Given the description of an element on the screen output the (x, y) to click on. 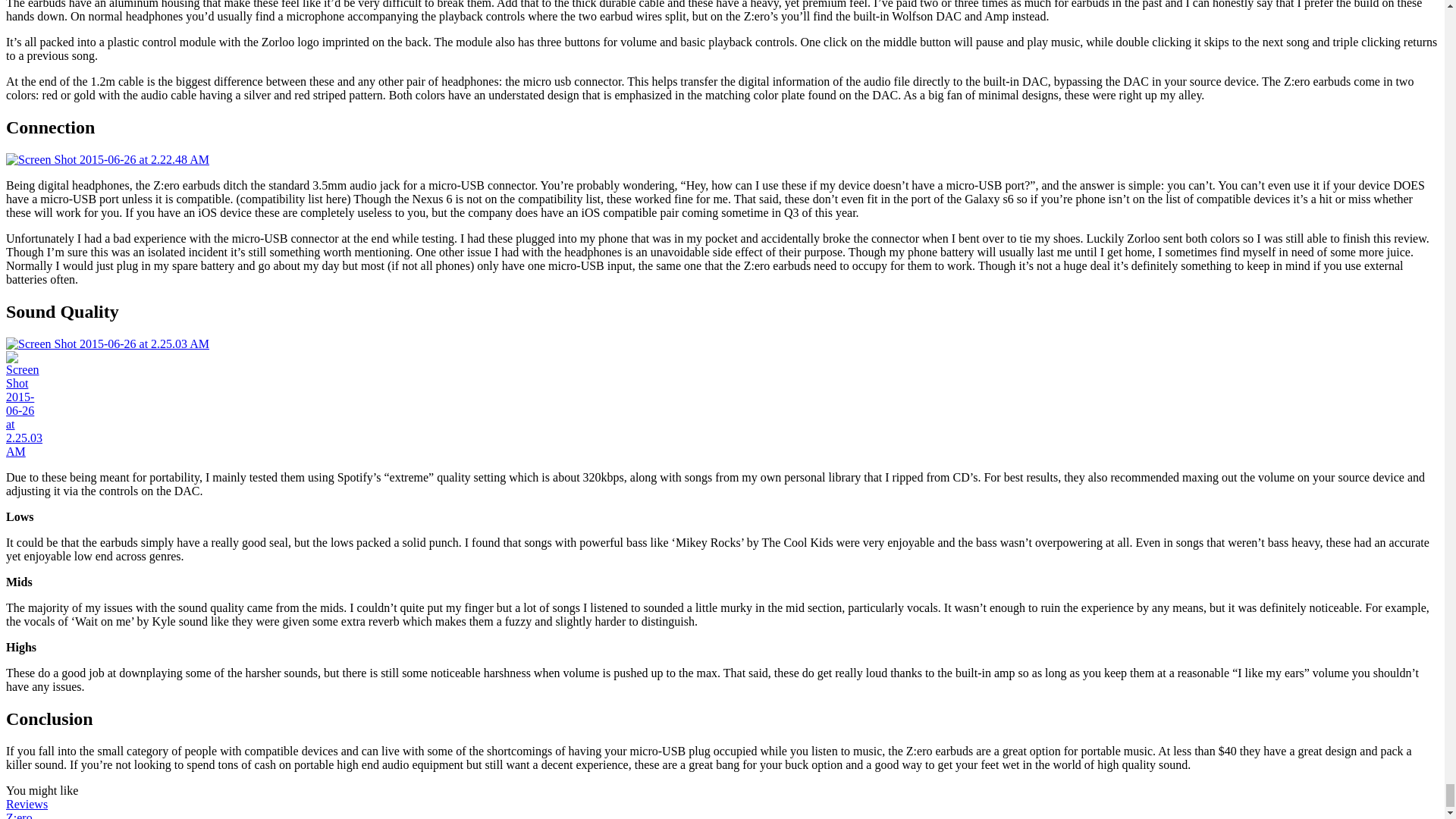
Screen Shot 2015-06-26 at 2.25.03 AM (23, 404)
Screen Shot 2015-06-26 at 2.25.03 AM (107, 344)
Reviews (26, 803)
Screen Shot 2015-06-26 at 2.22.48 AM (107, 160)
